Given the description of an element on the screen output the (x, y) to click on. 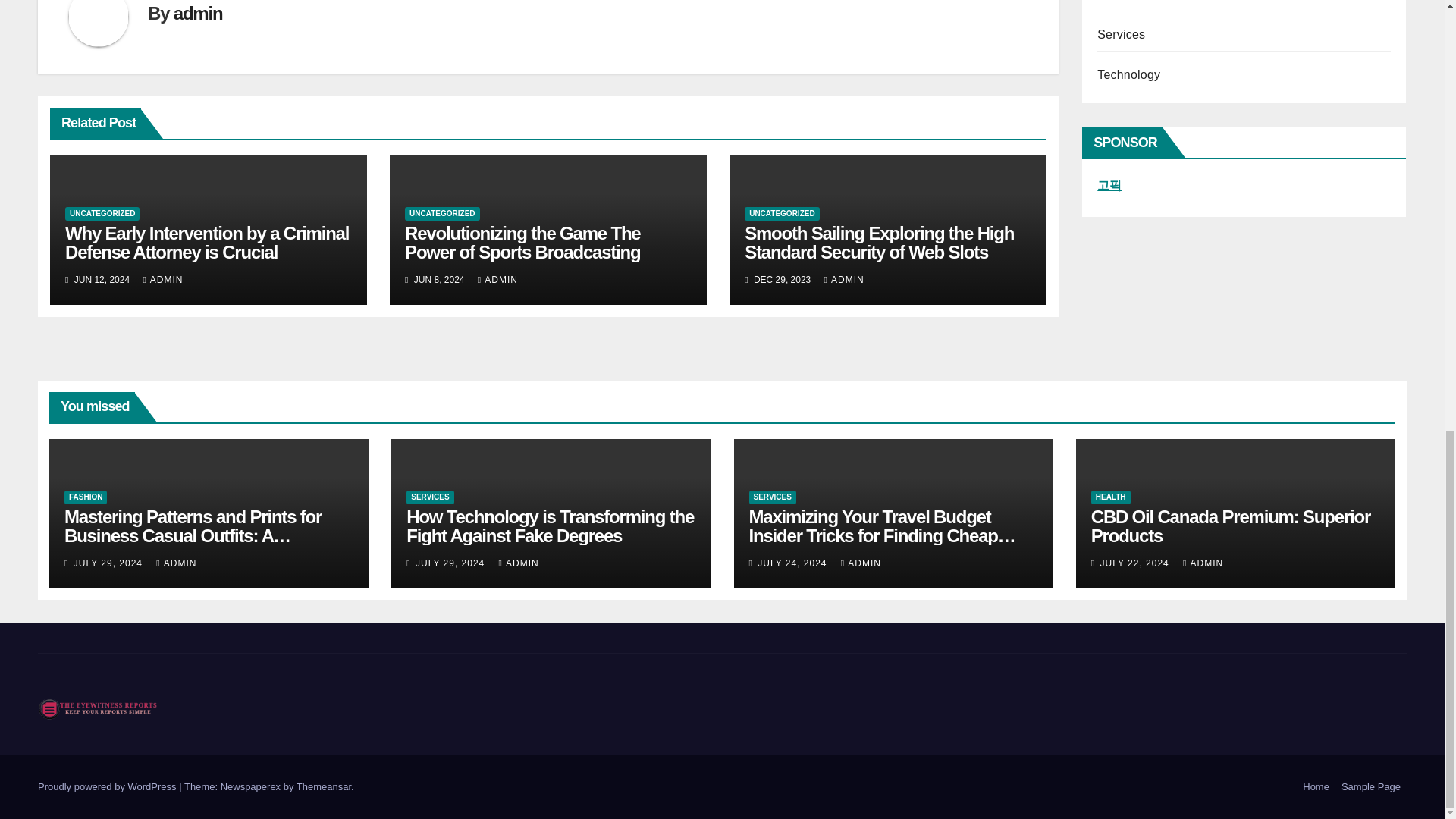
admin (197, 13)
UNCATEGORIZED (102, 213)
ADMIN (162, 279)
